Given the description of an element on the screen output the (x, y) to click on. 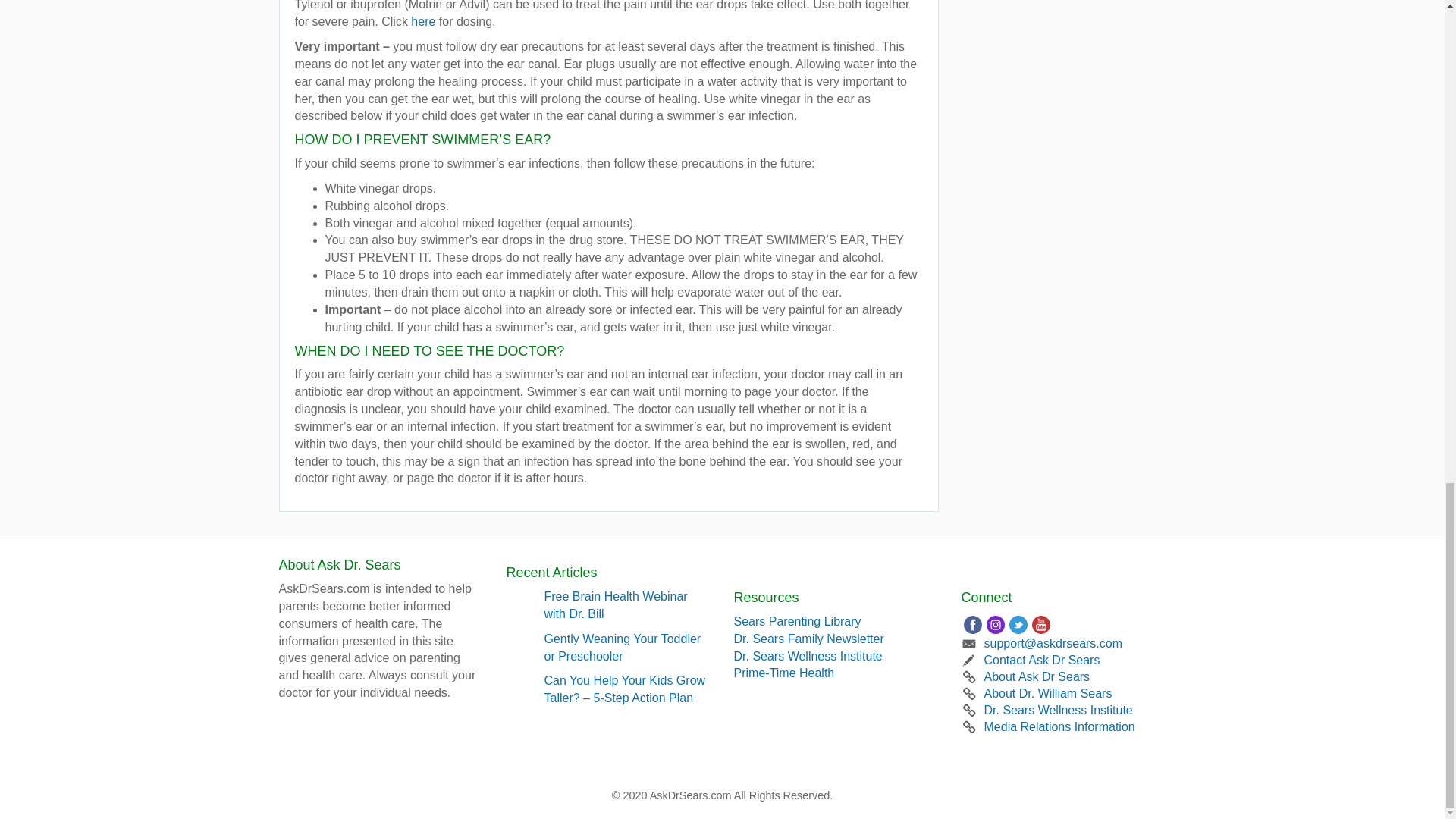
Twitter (1017, 624)
here (422, 21)
Facebook (971, 624)
Free Brain Health Webinar with Dr. Bill (627, 605)
Instagram (994, 624)
YouTube (1039, 624)
Gently Weaning Your Toddler or Preschooler (627, 647)
